Given the description of an element on the screen output the (x, y) to click on. 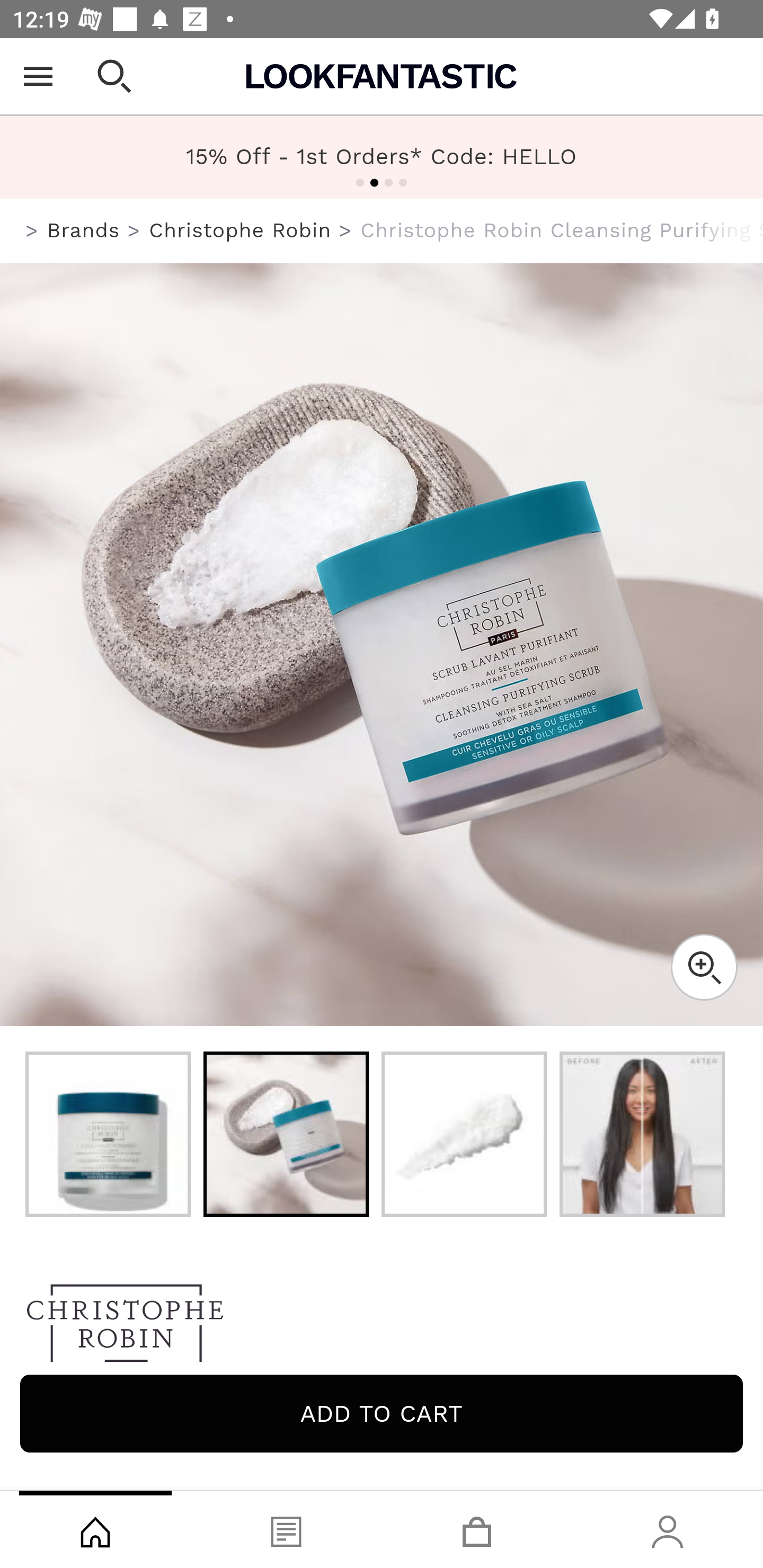
Open Menu (38, 75)
Open search (114, 75)
Lookfantastic USA (381, 75)
FREE US Shipping Over $40 (381, 157)
us.lookfantastic (32, 230)
Brands (82, 230)
Christophe Robin (239, 230)
Zoom (703, 966)
Christophe Robin (381, 1327)
Add to cart (381, 1413)
Shop, tab, 1 of 4 (95, 1529)
Blog, tab, 2 of 4 (285, 1529)
Basket, tab, 3 of 4 (476, 1529)
Account, tab, 4 of 4 (667, 1529)
